Given the description of an element on the screen output the (x, y) to click on. 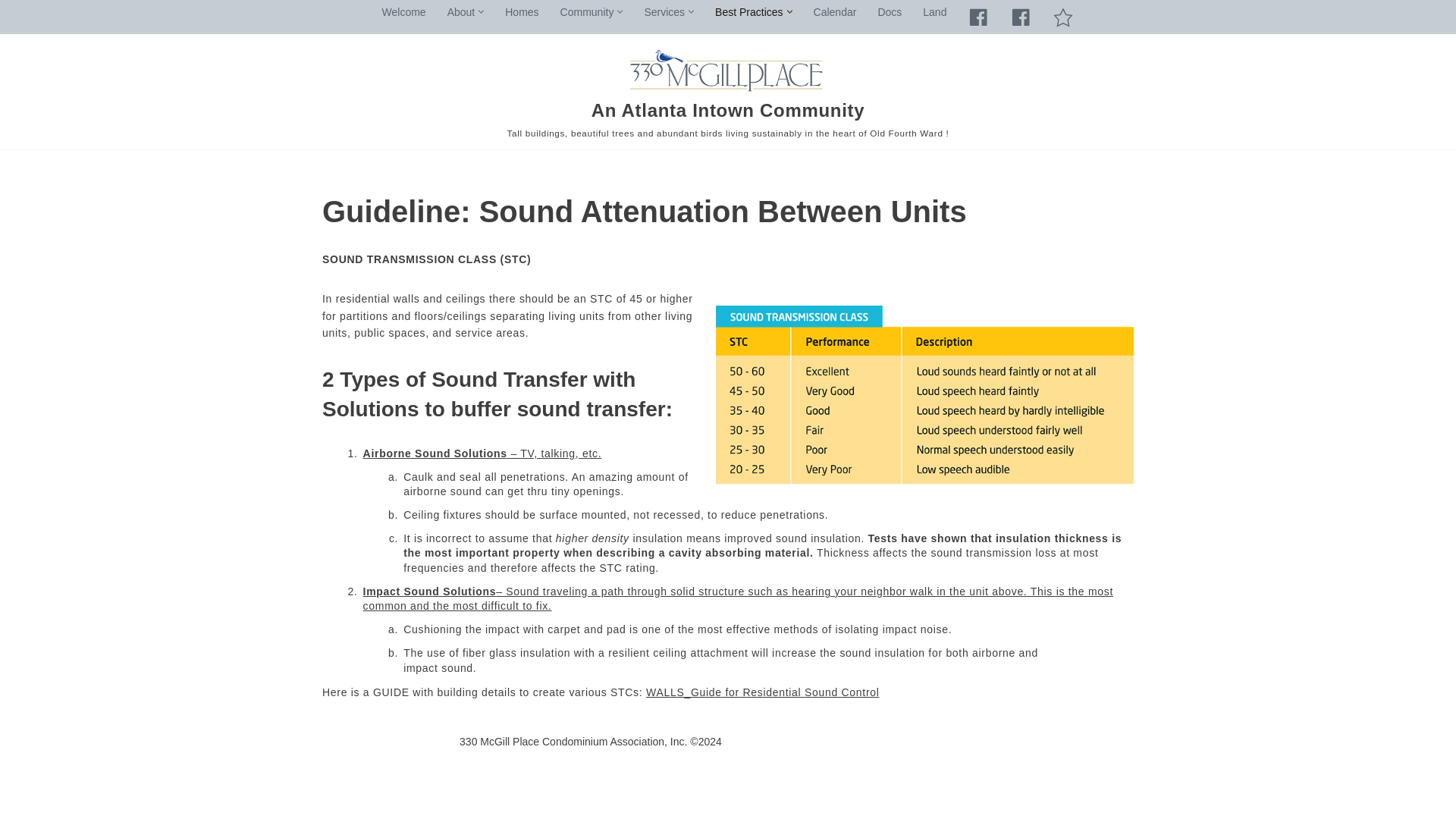
FB Public (1020, 16)
Calendar (835, 11)
Homes (521, 11)
Docs (889, 11)
About (461, 11)
Best Practices (748, 11)
Help Us Improve the McGill Place Community ! (1063, 16)
Services (663, 11)
Community (587, 11)
Skip to content (11, 31)
Welcome (403, 11)
Land (934, 11)
FB Private (978, 16)
